Given the description of an element on the screen output the (x, y) to click on. 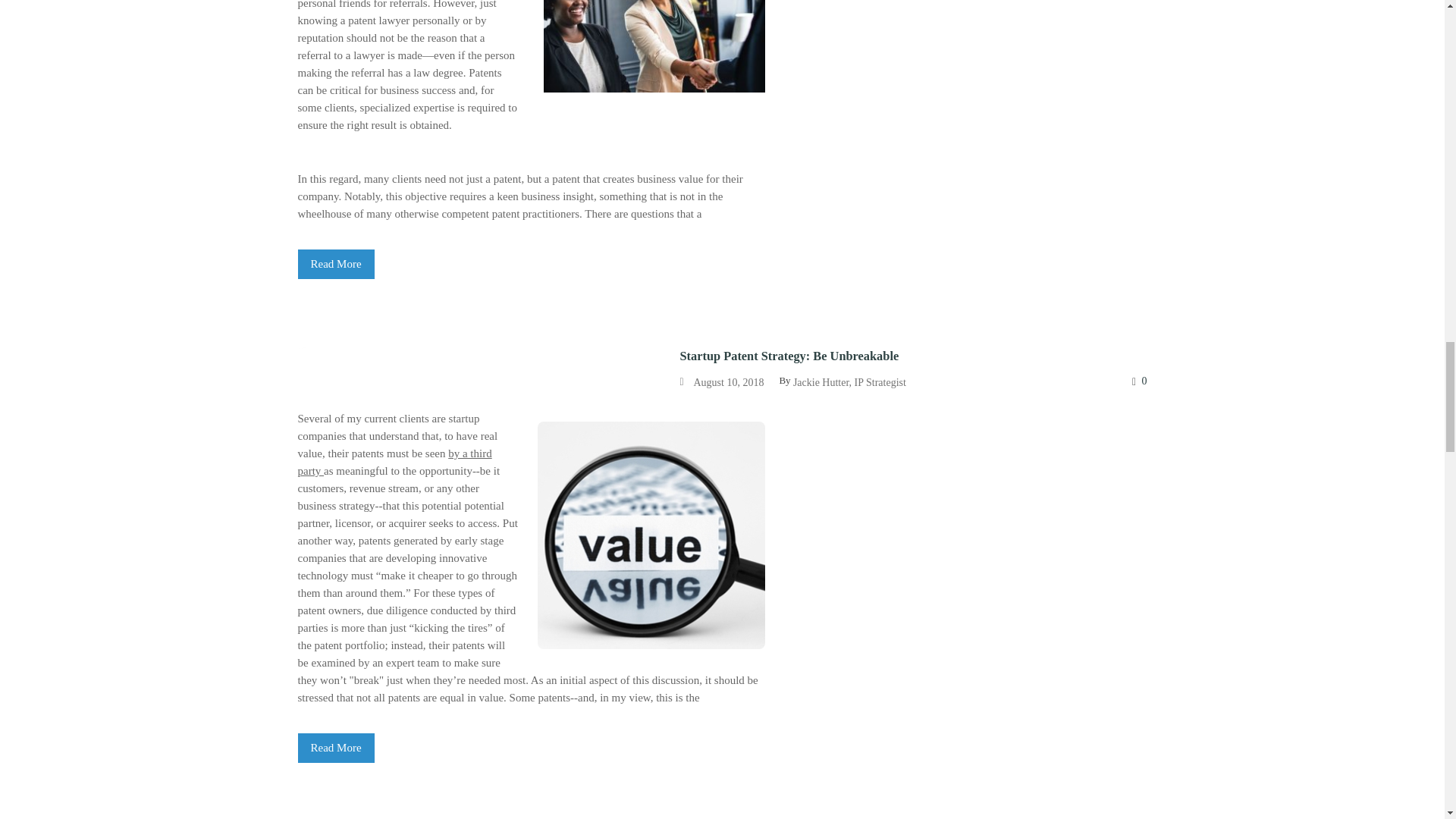
Startup Patent Strategy: Be Unbreakable (335, 747)
Better Patent Referrals: Tips for Non-Specialists (335, 264)
